Given the description of an element on the screen output the (x, y) to click on. 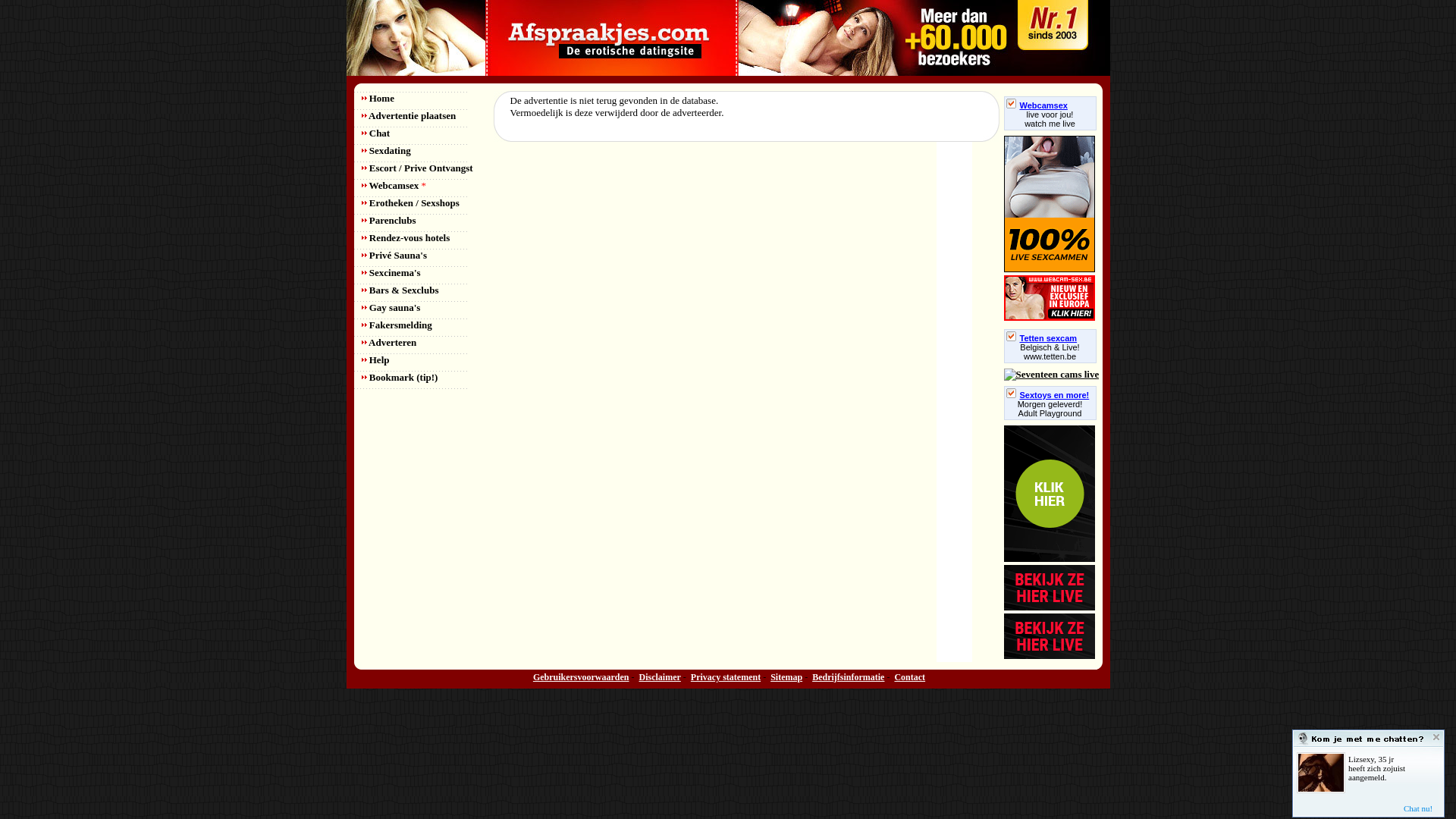
Advertentie plaatsen Element type: text (407, 115)
Home Element type: text (376, 97)
Tetten sexcam Element type: text (1040, 337)
Rendez-vous hotels Element type: text (404, 237)
Bedrijfsinformatie Element type: text (848, 676)
Bars & Sexclubs Element type: text (399, 289)
live voor jou!
watch me live Element type: text (1049, 118)
Disclaimer Element type: text (659, 676)
Privacy statement Element type: text (725, 676)
Erotheken / Sexshops Element type: text (409, 202)
Help Element type: text (374, 359)
Parenclubs Element type: text (387, 219)
Chat Element type: text (374, 132)
Sexcinema's Element type: text (390, 272)
Gay sauna's Element type: text (390, 307)
Adverteren Element type: text (388, 342)
Sexdating Element type: text (385, 150)
Escort / Prive Ontvangst Element type: text (416, 167)
Webcamsex Element type: text (1035, 104)
Sitemap Element type: text (786, 676)
Webcamsex * Element type: text (392, 185)
Belgisch & Live!
www.tetten.be Element type: text (1049, 351)
Lizsexy, 35 jr
heeft zich zojuist aangemeld.
Chat nu! Element type: text (1368, 772)
Bookmark (tip!) Element type: text (398, 376)
Gebruikersvoorwaarden Element type: text (581, 676)
Fakersmelding Element type: text (395, 324)
Sextoys en more! Element type: text (1046, 394)
Contact Element type: text (909, 676)
Morgen geleverd!
Adult Playground Element type: text (1049, 408)
